Given the description of an element on the screen output the (x, y) to click on. 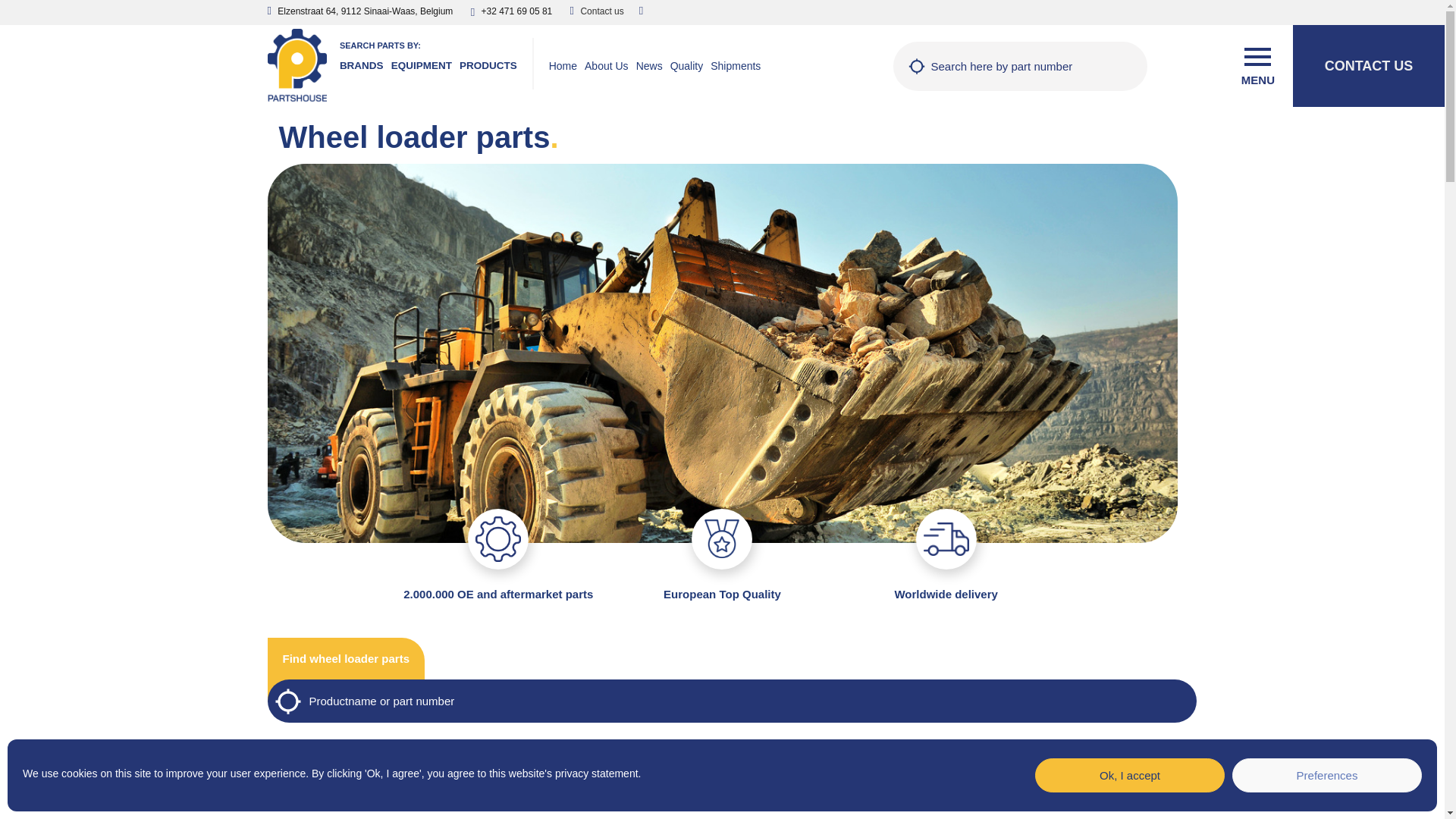
Preferences (1326, 775)
Ok, I accept (1129, 775)
PRODUCTS (483, 59)
privacy statement (596, 773)
EQUIPMENT (417, 59)
Contact us (601, 10)
